Given the description of an element on the screen output the (x, y) to click on. 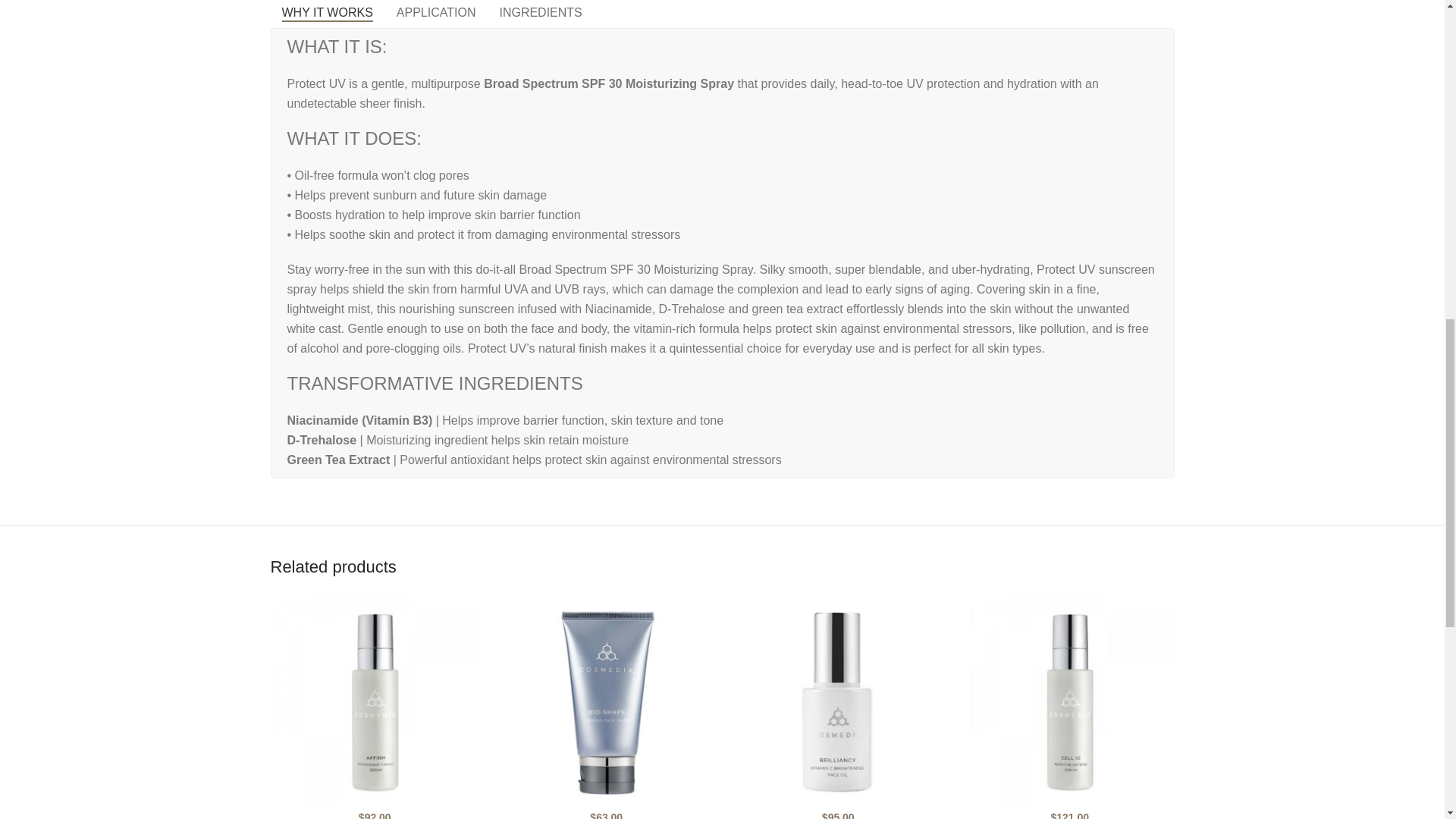
WHY IT WORKS (326, 14)
APPLICATION (436, 14)
INGREDIENTS (539, 14)
